Given the description of an element on the screen output the (x, y) to click on. 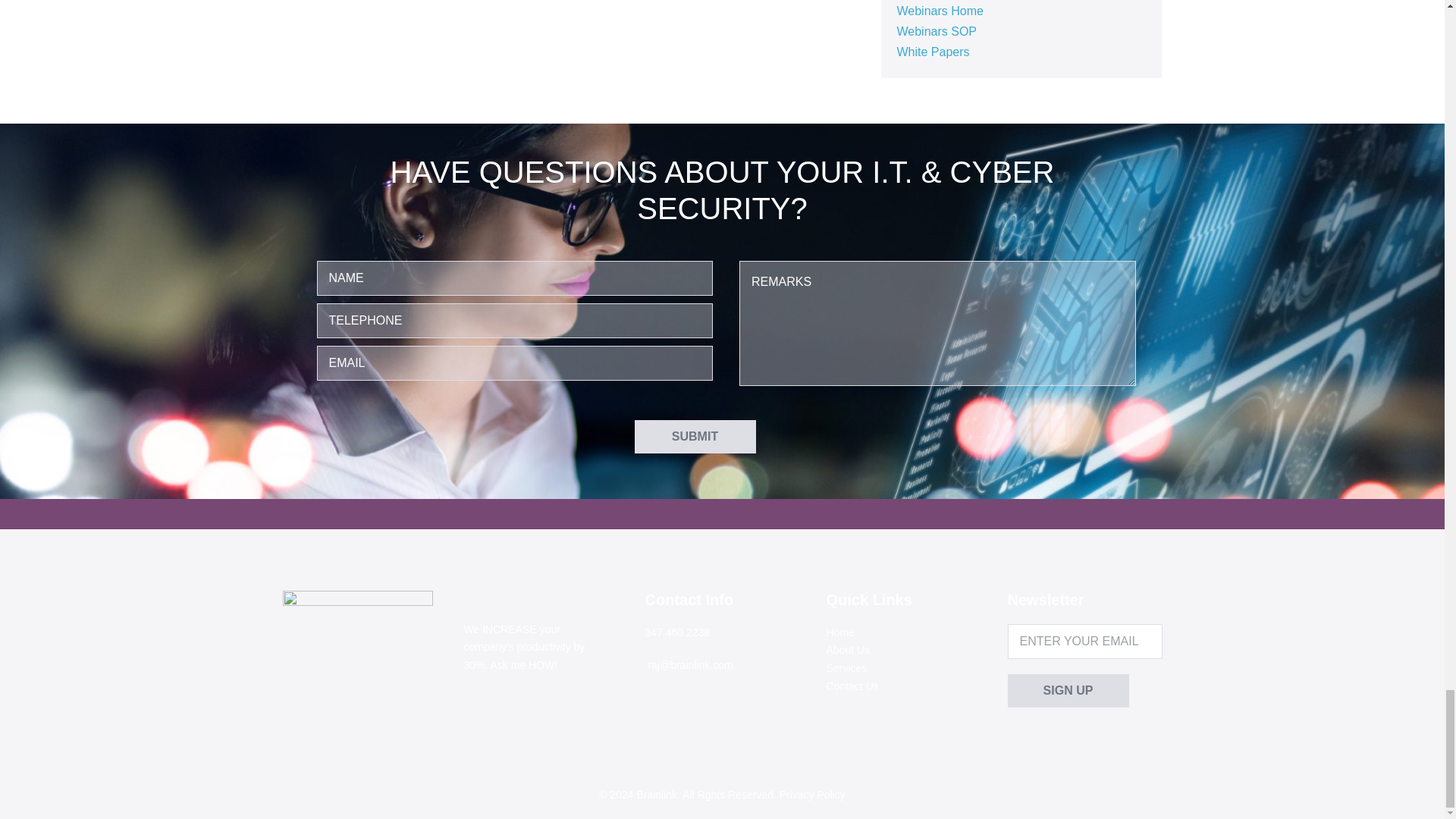
Submit (694, 436)
SIGN UP (1067, 690)
